Given the description of an element on the screen output the (x, y) to click on. 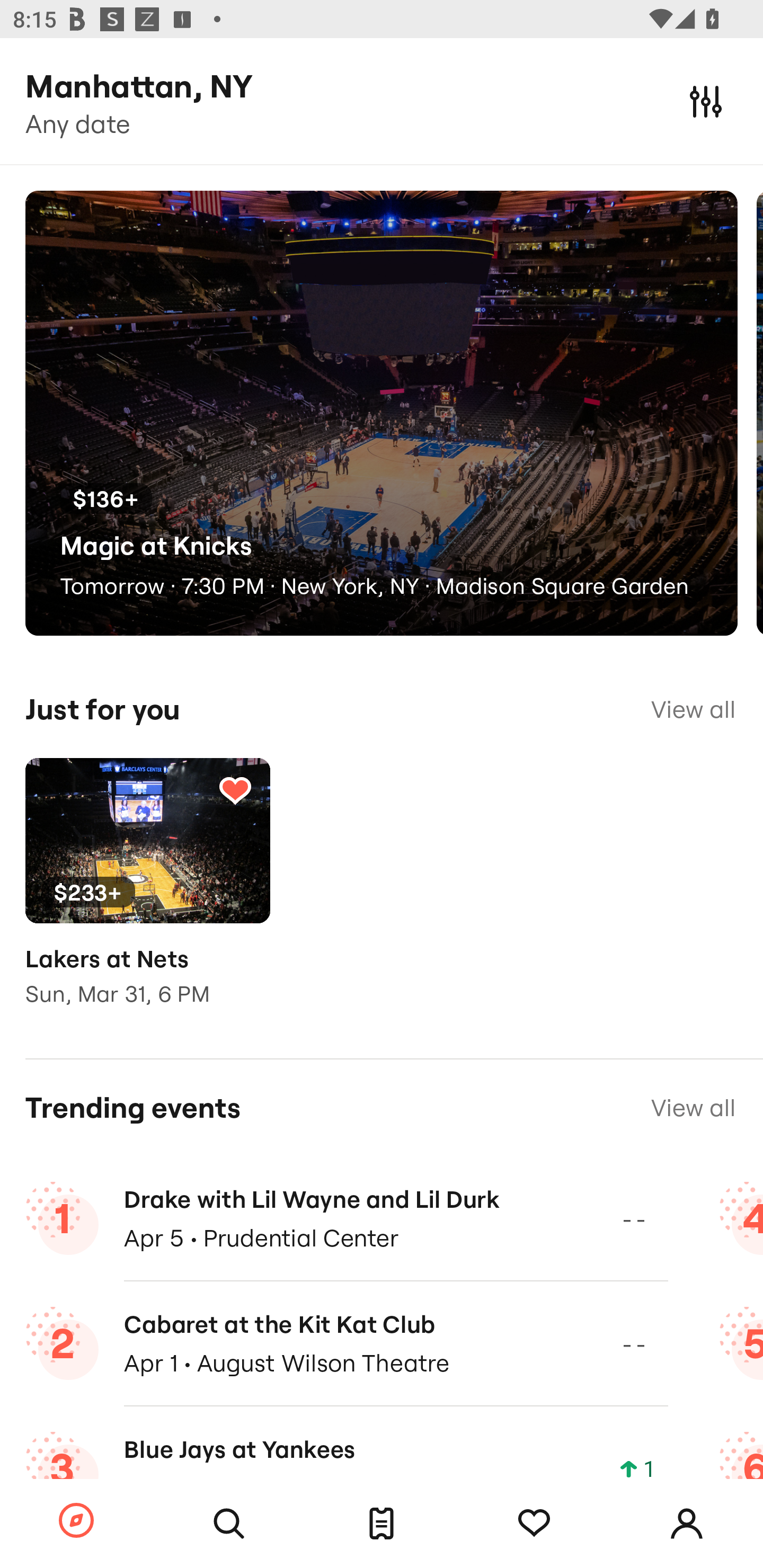
Filters (705, 100)
View all (693, 709)
Tracking $233+ Lakers at Nets Sun, Mar 31, 6 PM (147, 895)
Tracking (234, 790)
View all (693, 1108)
Browse (76, 1521)
Search (228, 1523)
Tickets (381, 1523)
Tracking (533, 1523)
Account (686, 1523)
